Given the description of an element on the screen output the (x, y) to click on. 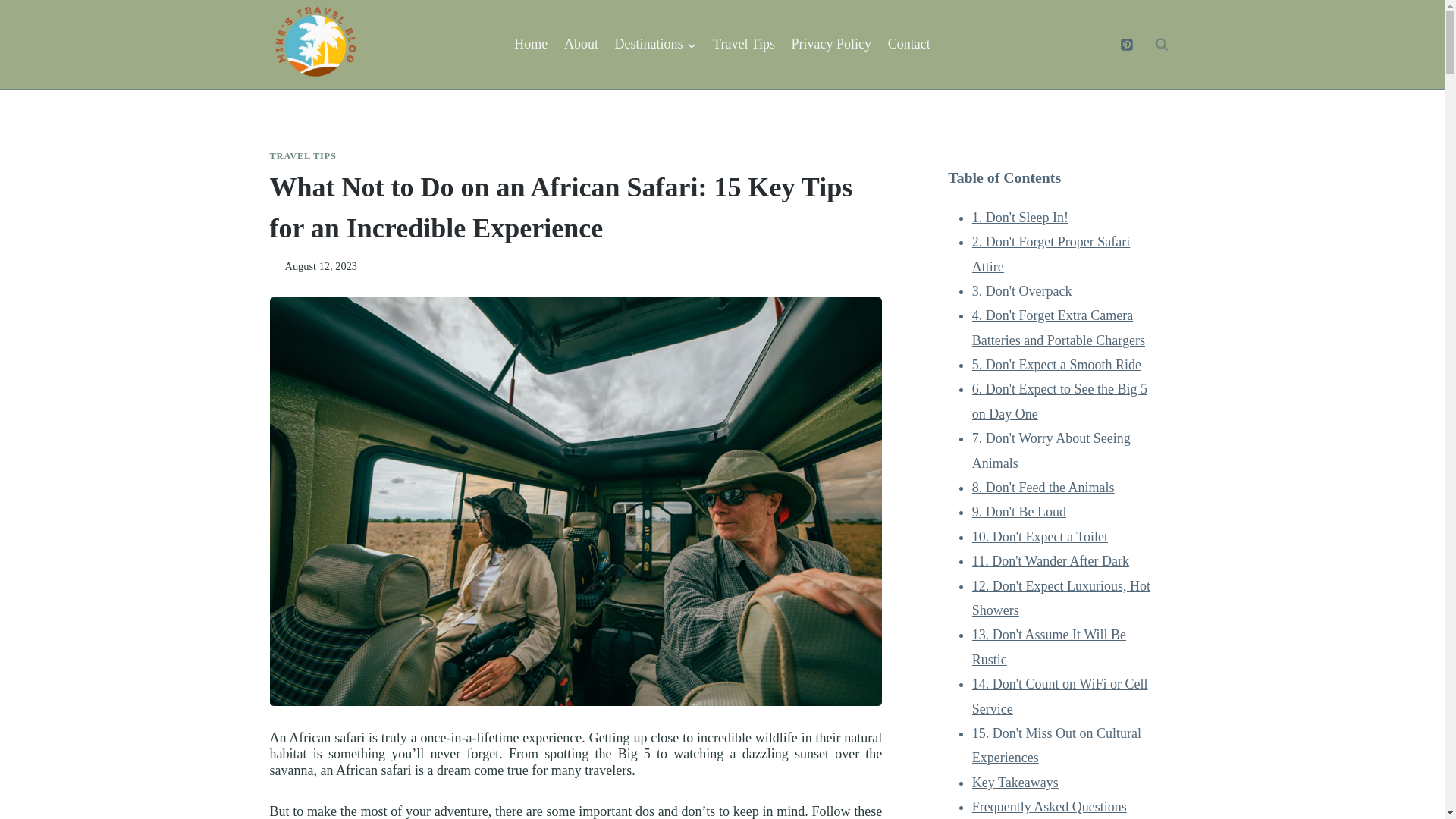
TRAVEL TIPS (302, 155)
Privacy Policy (831, 43)
Contact (909, 43)
Travel Tips (743, 43)
Destinations (655, 43)
About (581, 43)
Home (531, 43)
